Given the description of an element on the screen output the (x, y) to click on. 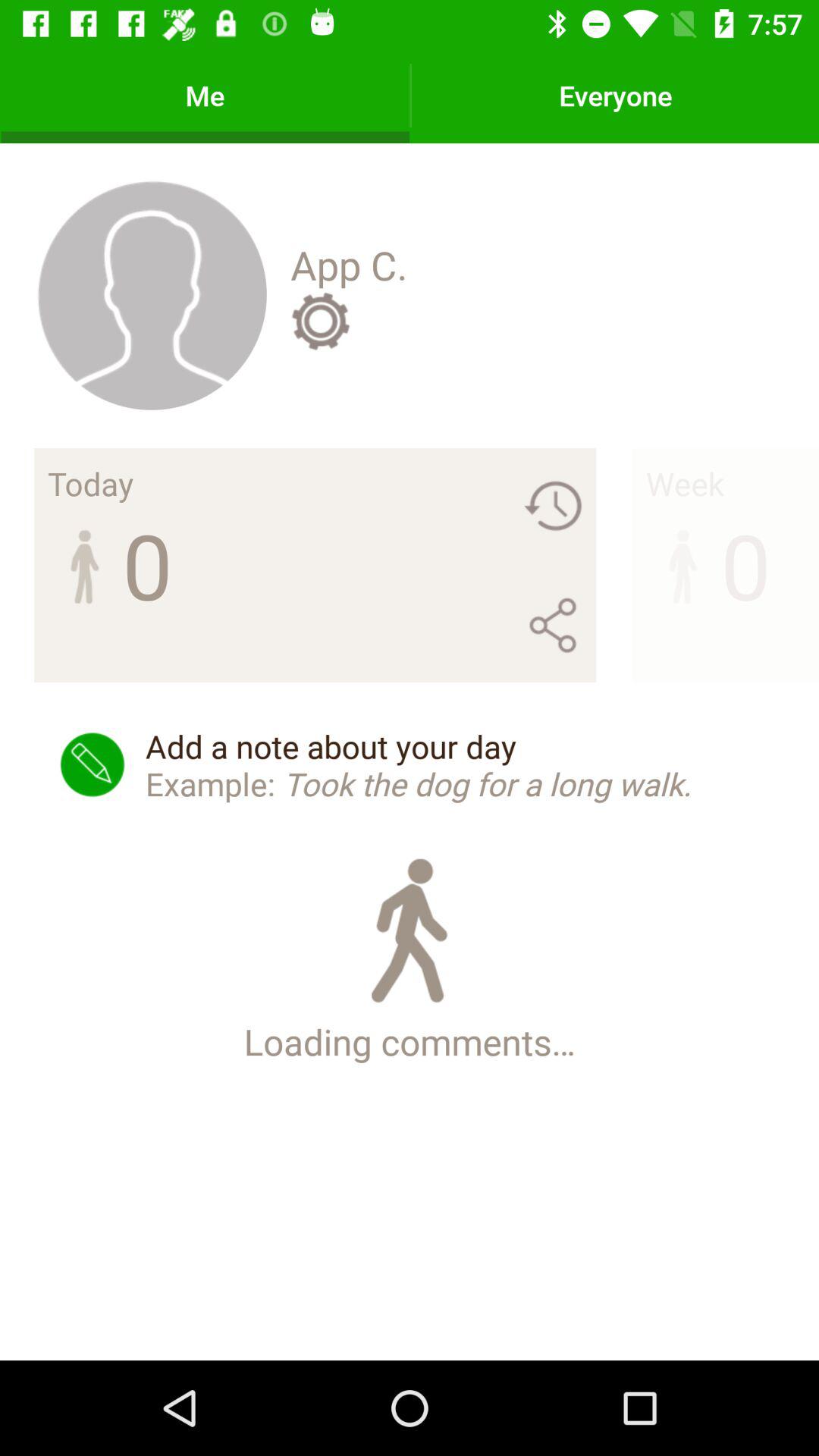
turn on item above today (150, 294)
